Given the description of an element on the screen output the (x, y) to click on. 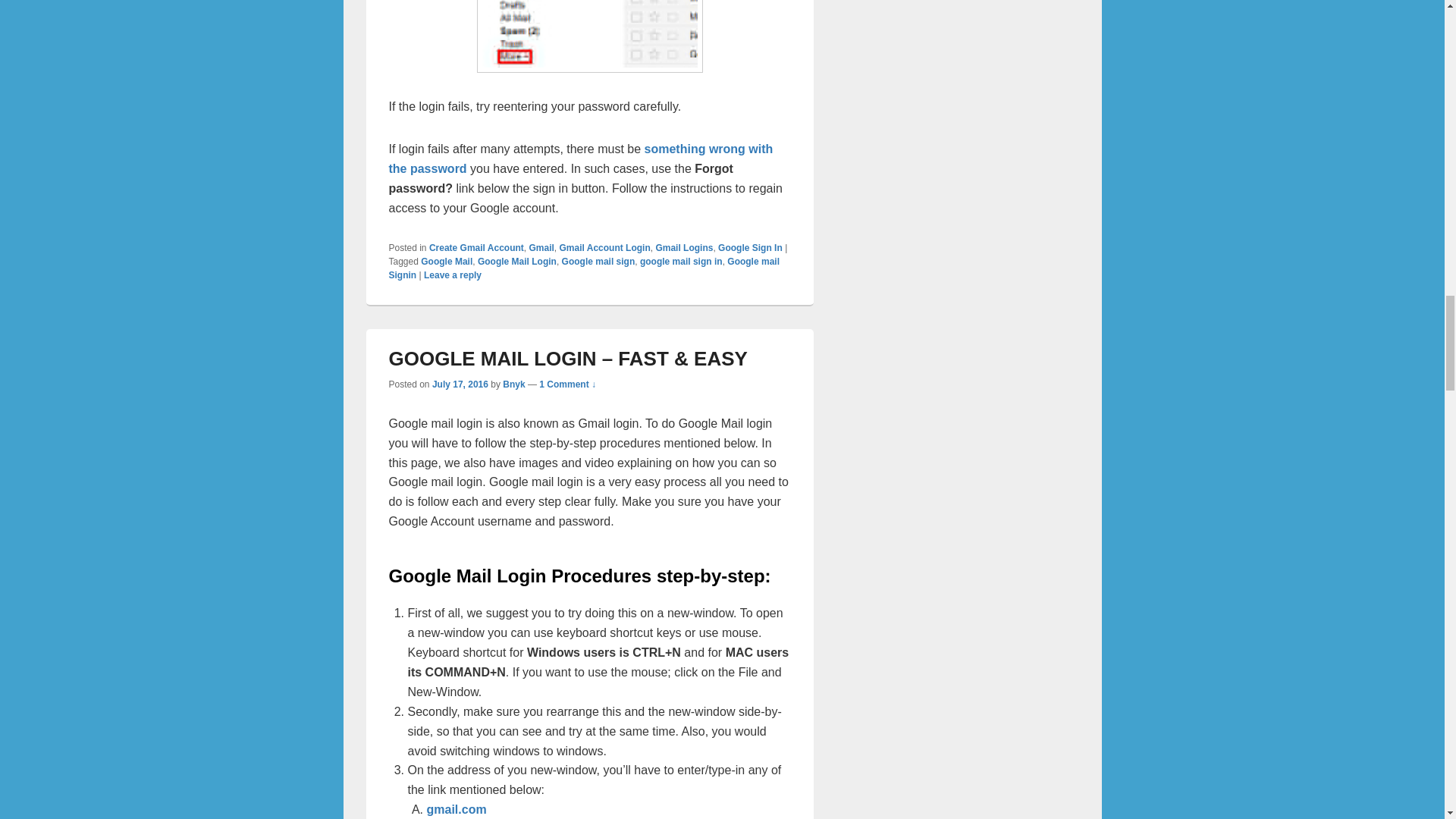
Google mail Signin (583, 268)
Bnyk (513, 384)
Google Mail Login (516, 261)
Gmail Logins (684, 247)
Google Sign In (750, 247)
July 17, 2016 (459, 384)
gmail.com (456, 809)
Leave a reply (452, 275)
Google mail sign (598, 261)
google mail sign in (681, 261)
